Given the description of an element on the screen output the (x, y) to click on. 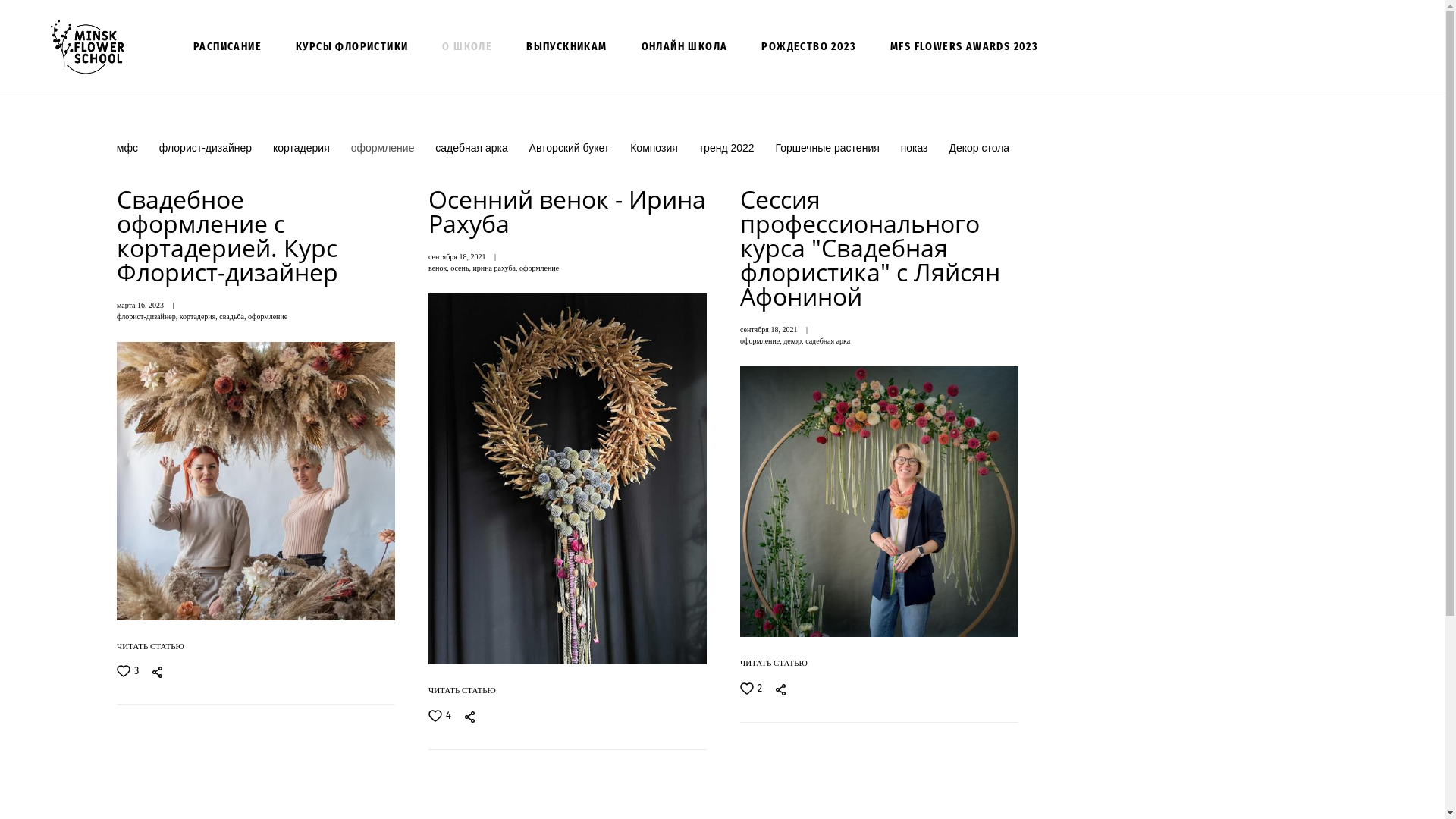
4 Element type: text (439, 715)
2 Element type: text (751, 688)
3 Element type: text (127, 670)
MFS FLOWERS AWARDS 2023 Element type: text (964, 46)
